Given the description of an element on the screen output the (x, y) to click on. 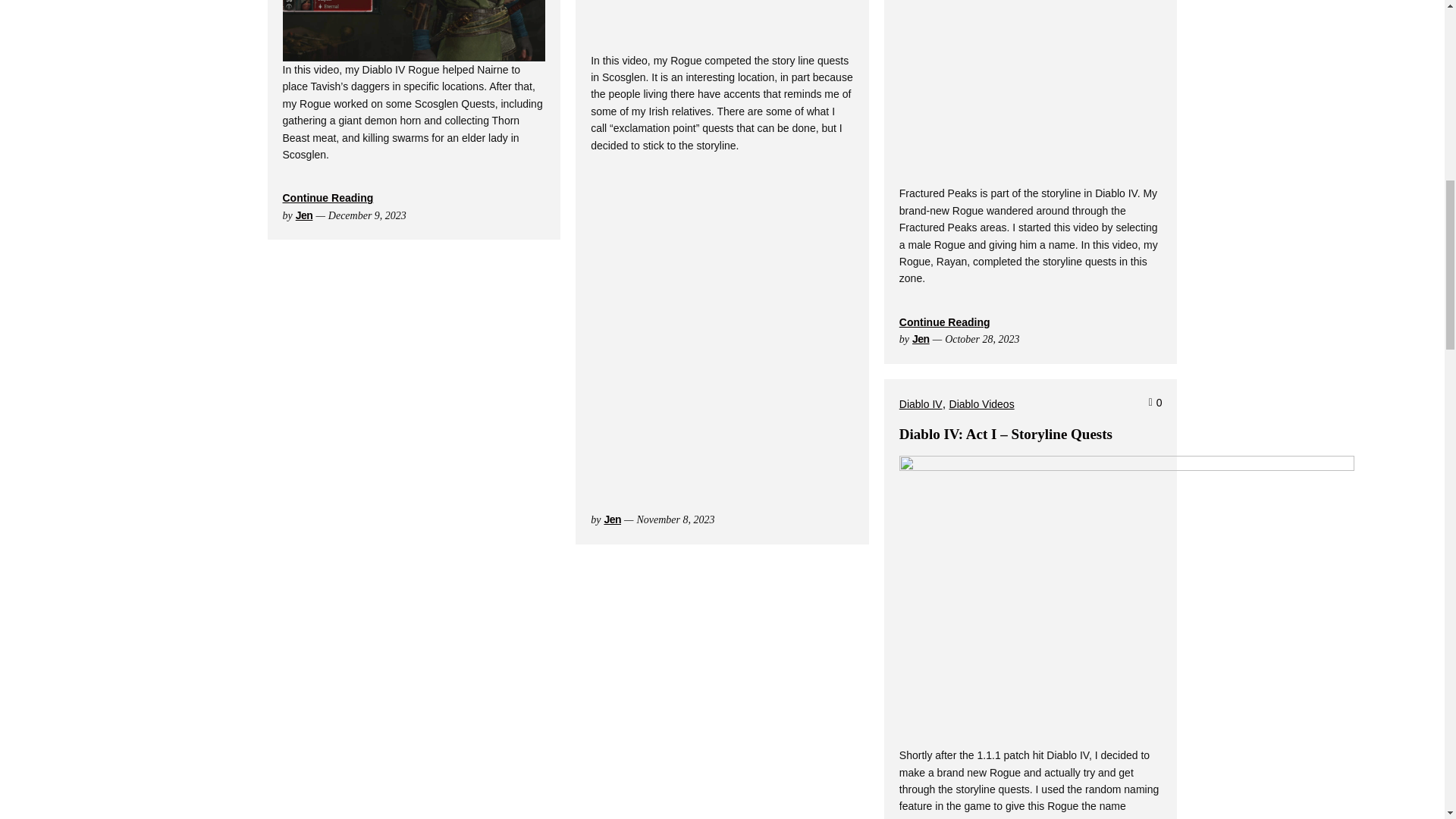
Diablo Videos (981, 403)
Jen (612, 519)
Jen (304, 215)
Jen (921, 338)
Diablo IV (920, 403)
